Given the description of an element on the screen output the (x, y) to click on. 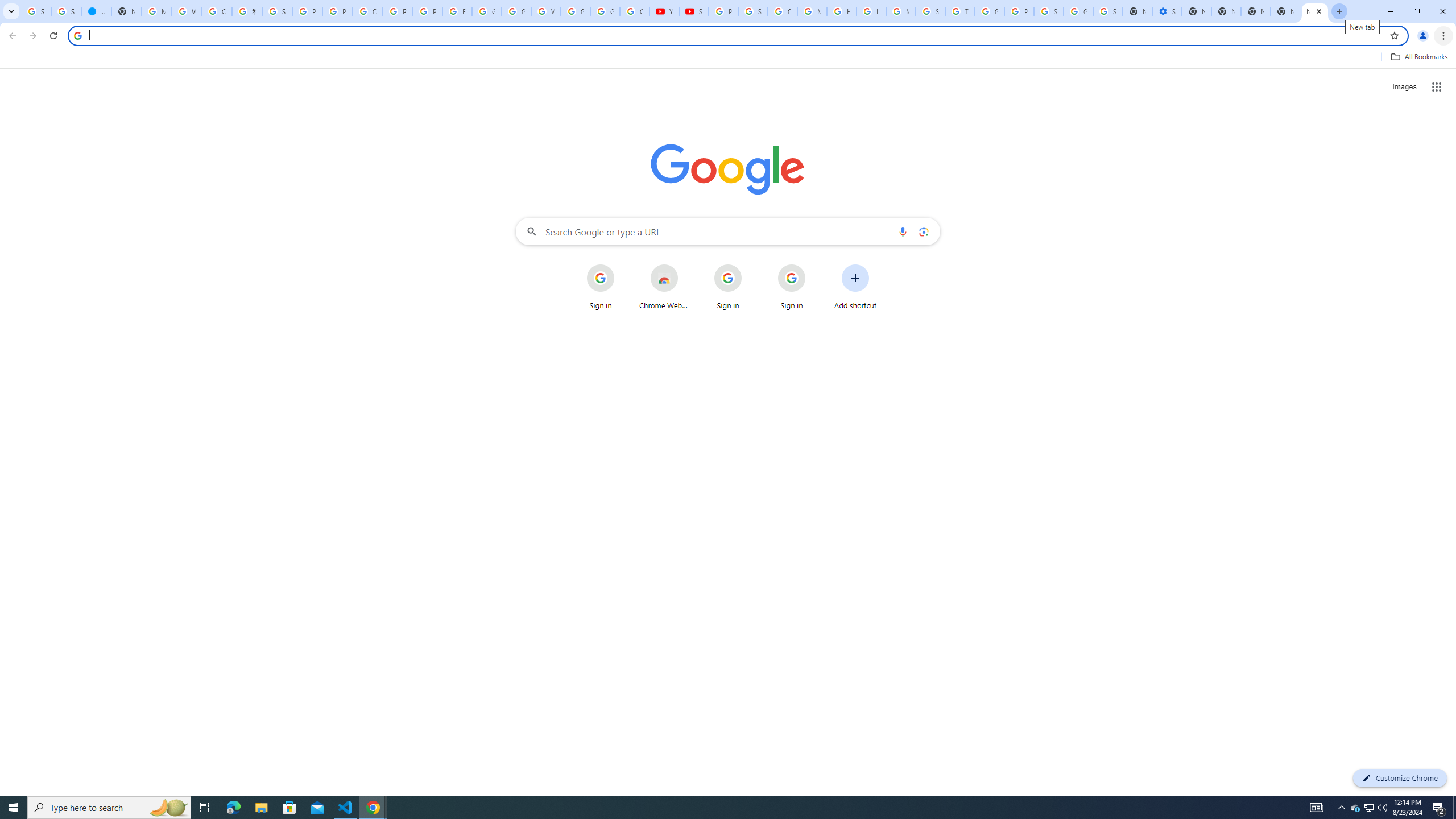
More actions for Sign in shortcut (814, 265)
Search our Doodle Library Collection - Google Doodles (930, 11)
Bookmarks (728, 58)
Who is my administrator? - Google Account Help (185, 11)
Sign in - Google Accounts (1107, 11)
Add shortcut (855, 287)
Google Slides: Sign-in (486, 11)
